Given the description of an element on the screen output the (x, y) to click on. 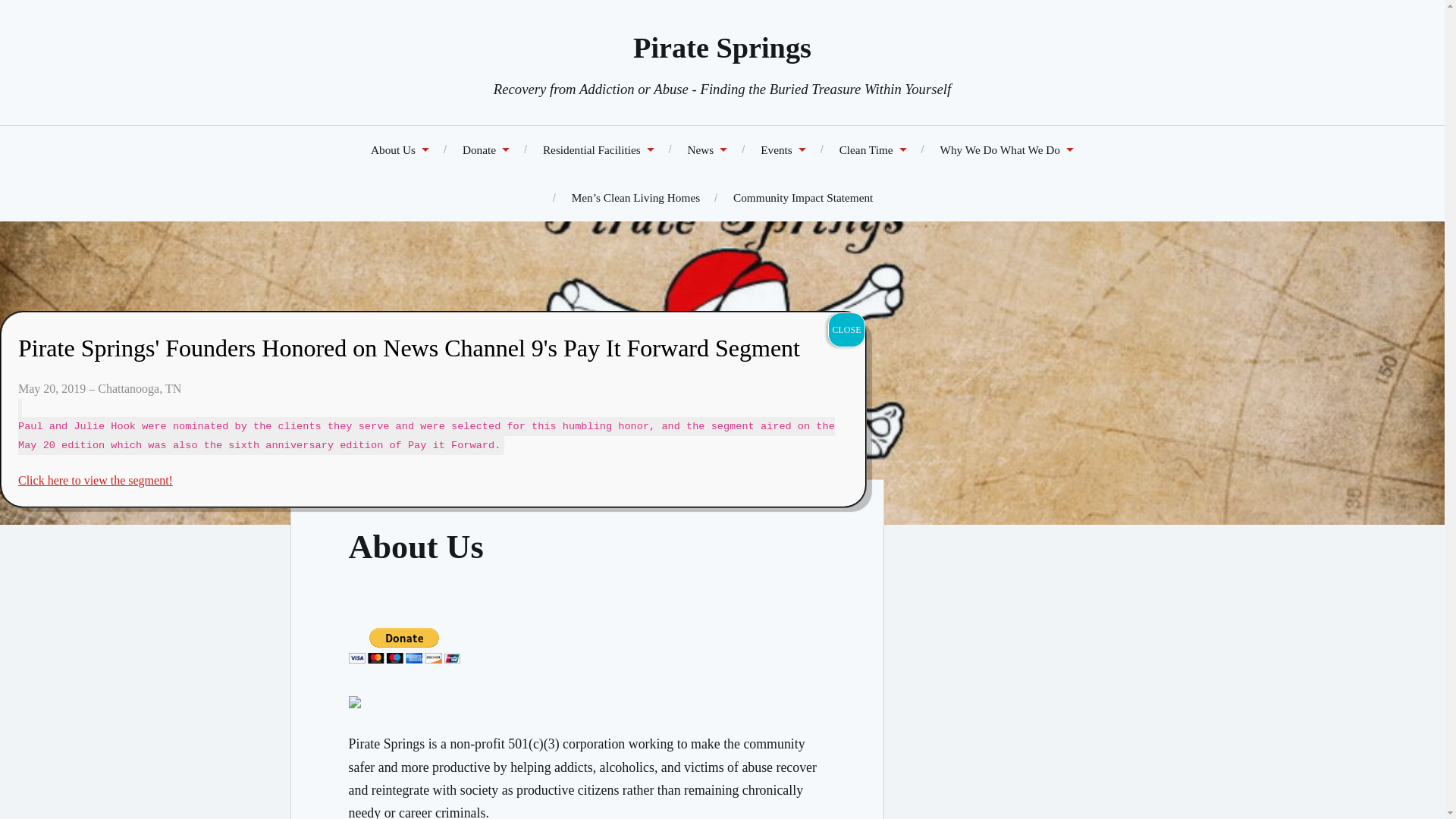
Pirate Springs (721, 47)
PayPal - The safer, easier way to pay online! (404, 645)
About Us (400, 149)
Interim Employment (873, 149)
